Given the description of an element on the screen output the (x, y) to click on. 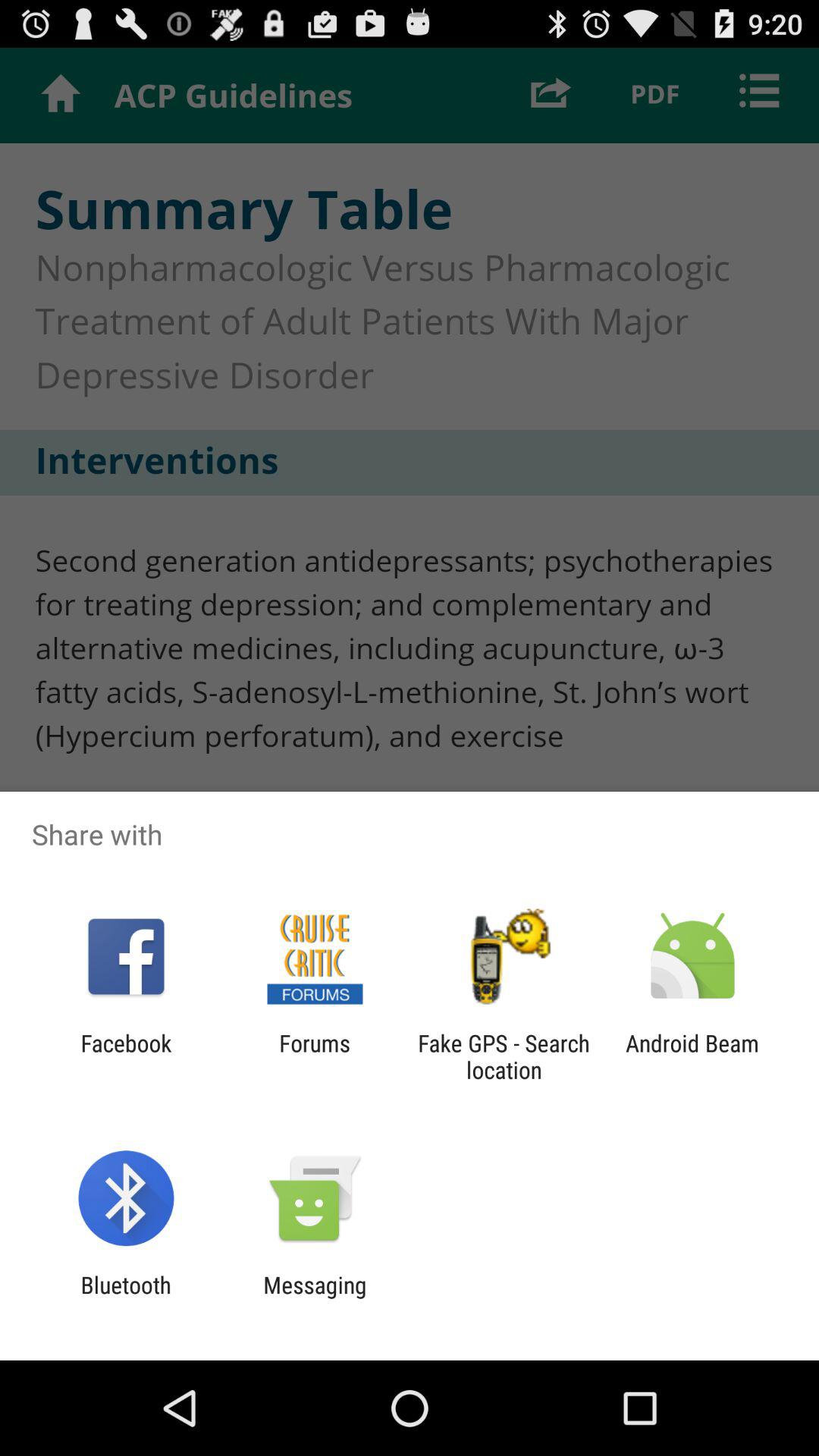
select the icon next to forums item (503, 1056)
